Given the description of an element on the screen output the (x, y) to click on. 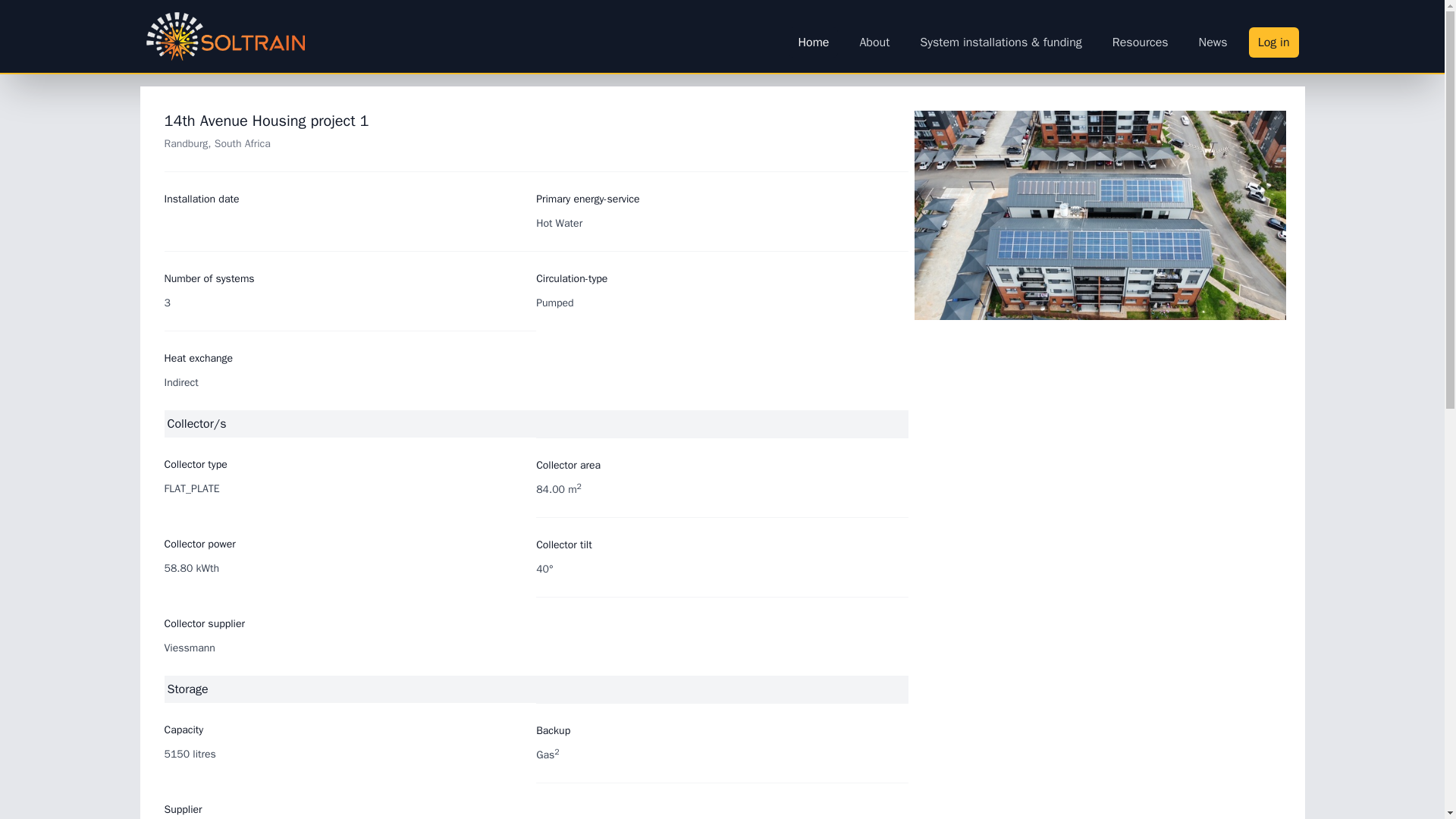
News (1212, 42)
About (874, 42)
Log in (1273, 42)
Home (813, 42)
Resources (1140, 42)
